Given the description of an element on the screen output the (x, y) to click on. 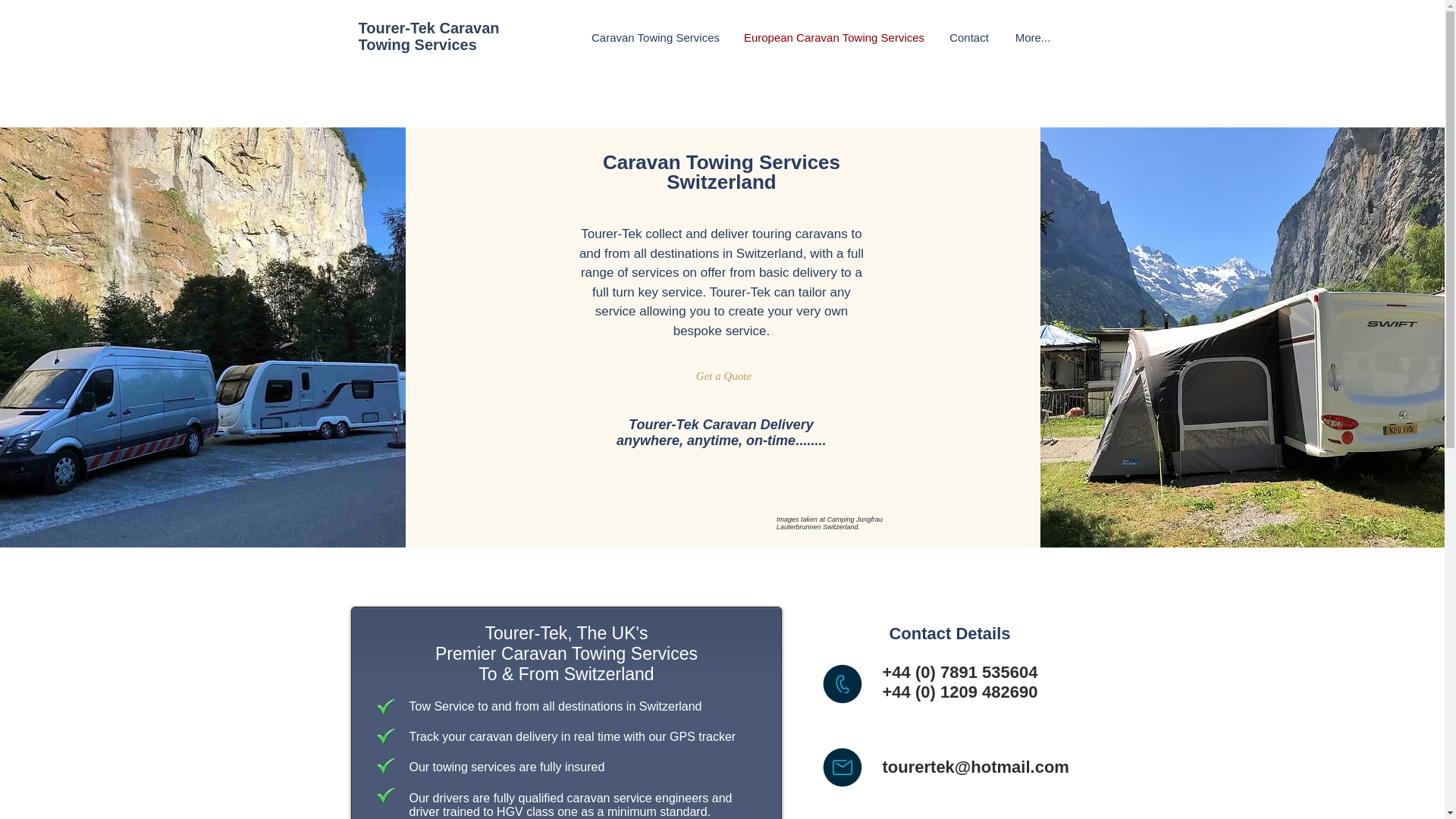
European Caravan Towing Services (834, 37)
Caravan Towing Services (655, 37)
Contact (968, 37)
Get a Quote (723, 375)
